Given the description of an element on the screen output the (x, y) to click on. 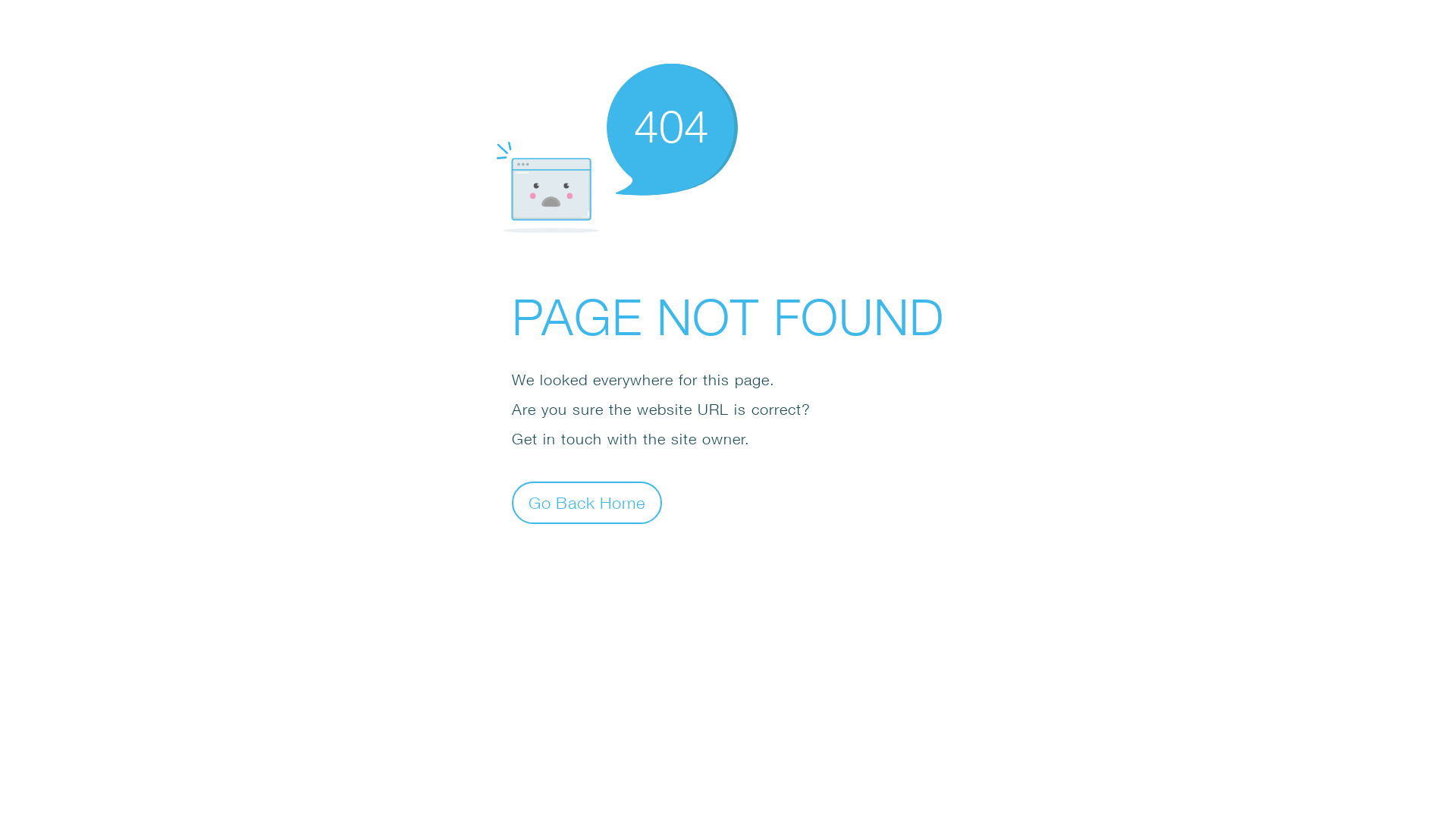
Go Back Home Element type: text (586, 502)
